Given the description of an element on the screen output the (x, y) to click on. 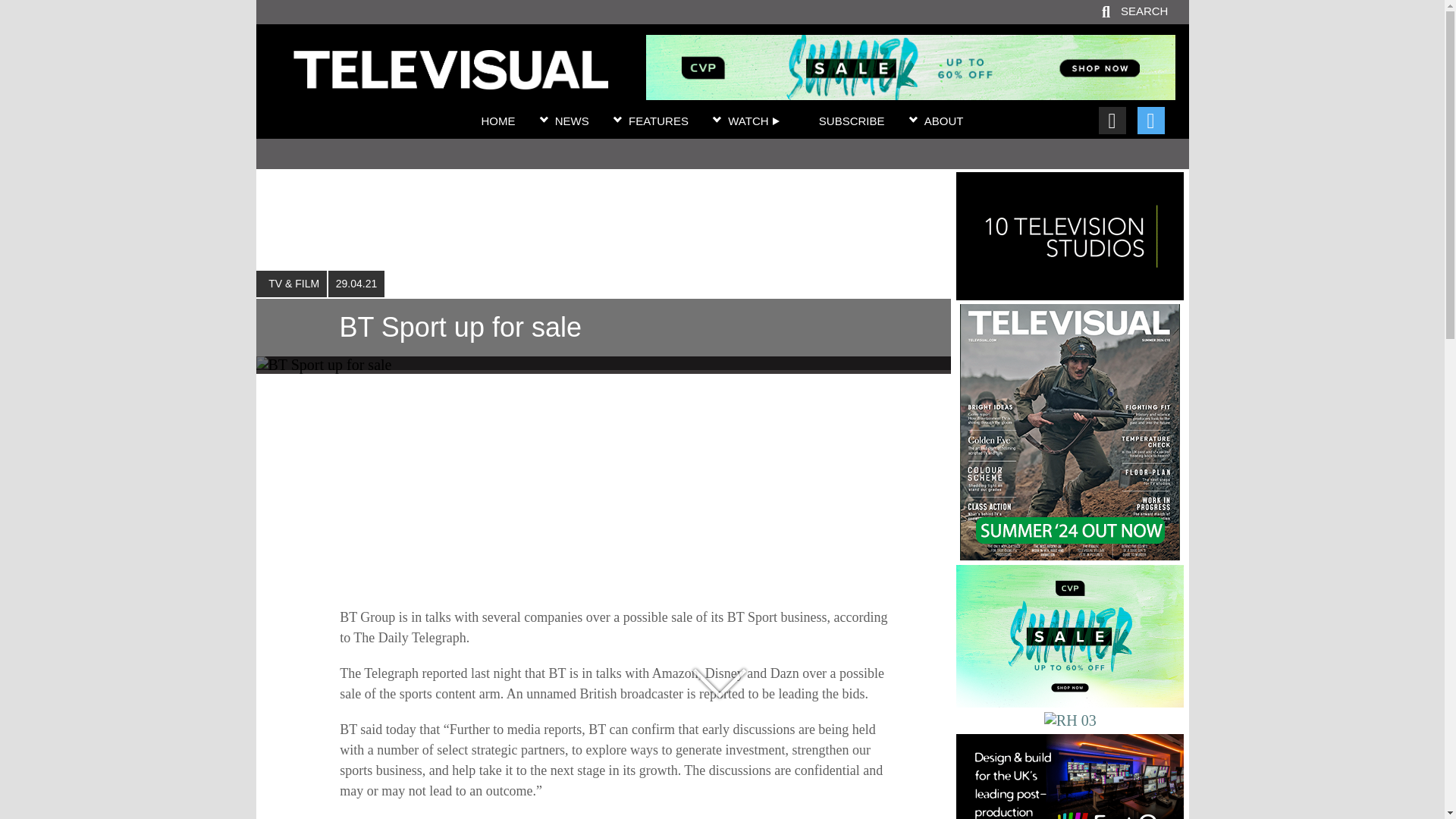
BT Sport up for sale (603, 334)
ABOUT (943, 121)
SUBSCRIBE (851, 121)
29.04.21 (356, 284)
BT Sport up for sale (451, 80)
HOME (497, 121)
FEATURES (658, 121)
WATCH (753, 121)
NEWS (571, 121)
